Given the description of an element on the screen output the (x, y) to click on. 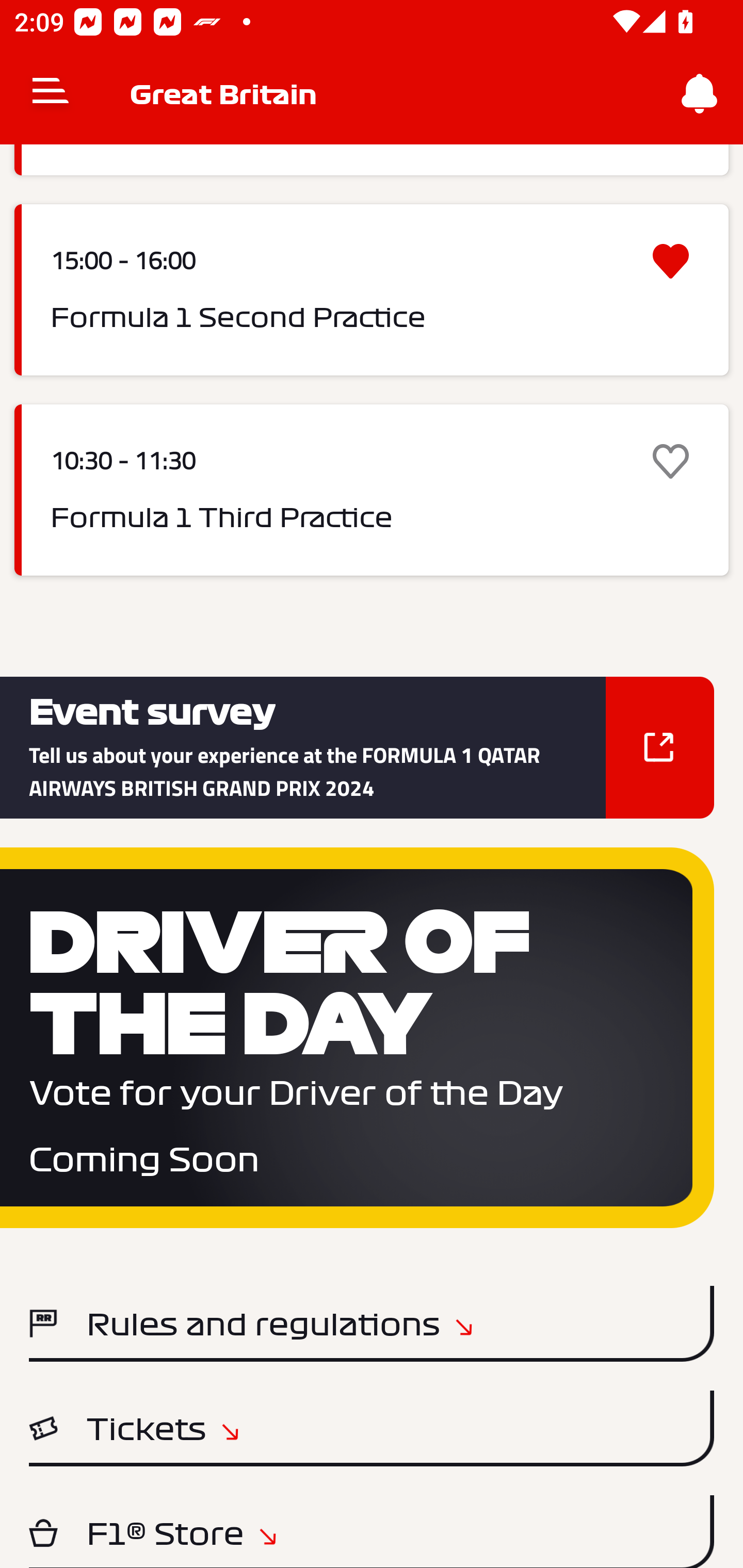
Navigate up (50, 93)
Notifications (699, 93)
15:00 - 16:00 Formula 1 Second Practice (371, 288)
10:30 - 11:30 Formula 1 Third Practice (371, 489)
Rules and regulations (371, 1323)
Tickets (371, 1428)
F1® Store (371, 1531)
